Given the description of an element on the screen output the (x, y) to click on. 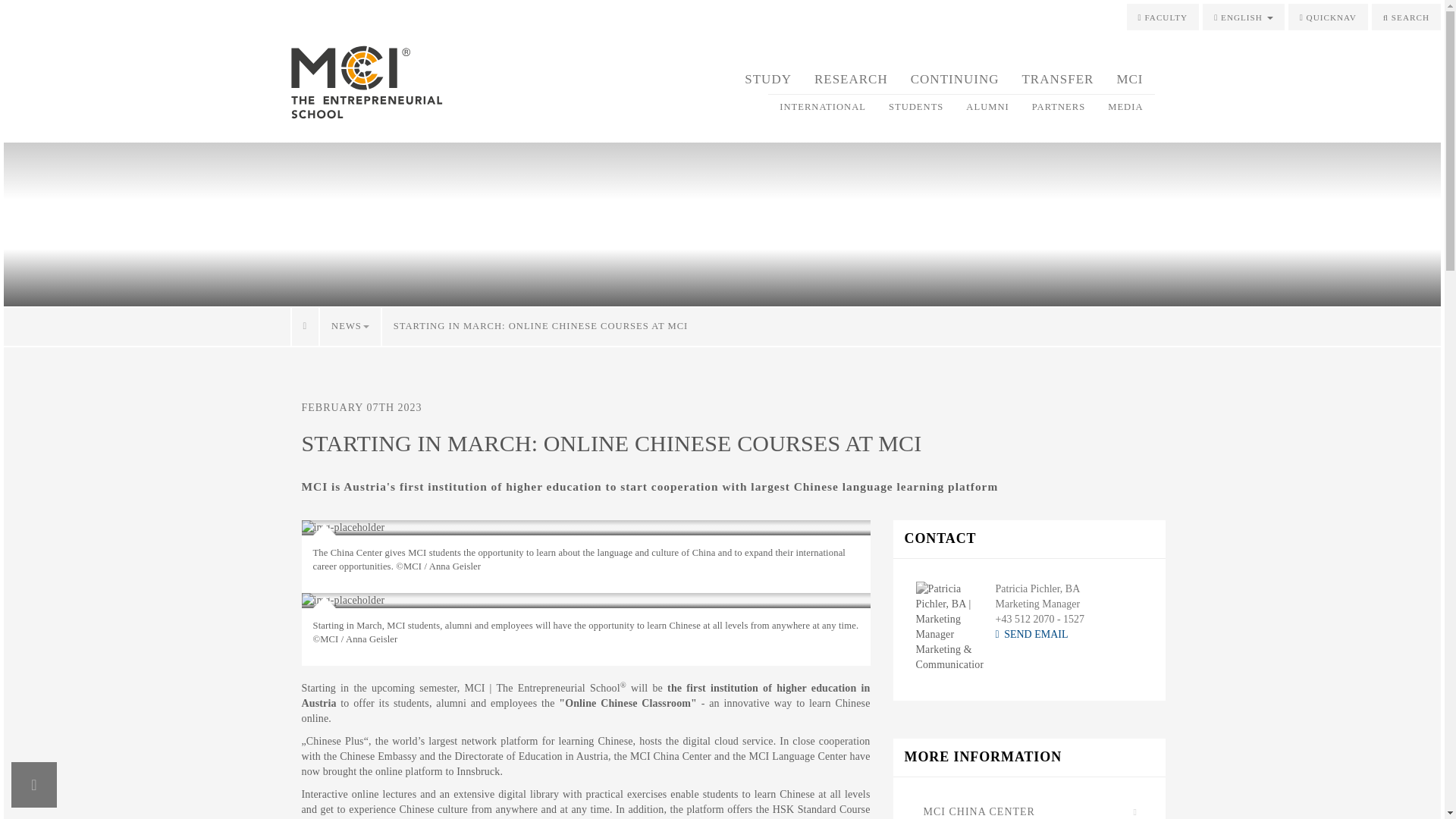
RESEARCH (851, 79)
STUDY (768, 79)
FACULTY (1162, 17)
QUICKNAV (1328, 17)
ENGLISH (1243, 17)
